Given the description of an element on the screen output the (x, y) to click on. 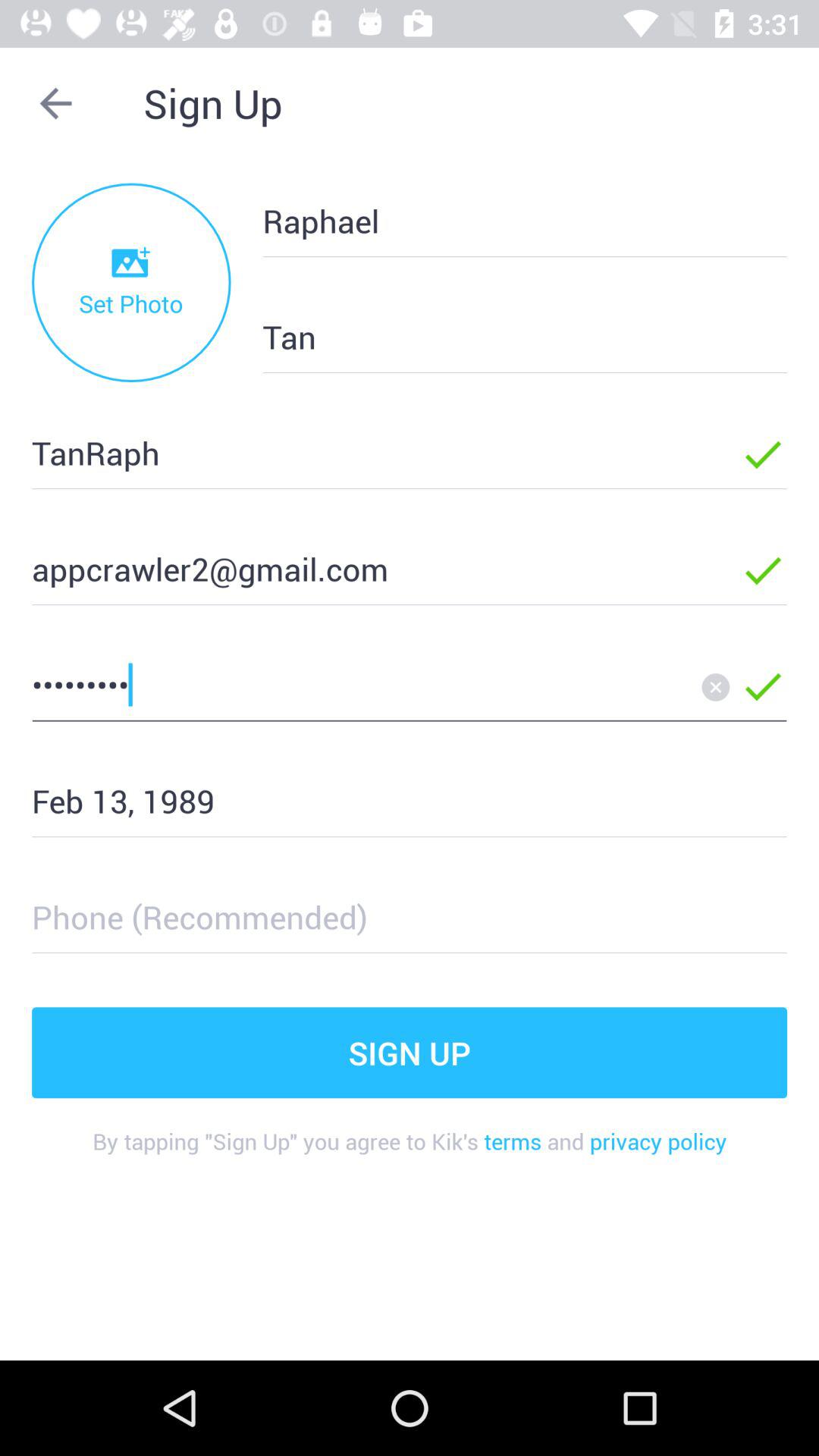
turn on the tan item (500, 336)
